Given the description of an element on the screen output the (x, y) to click on. 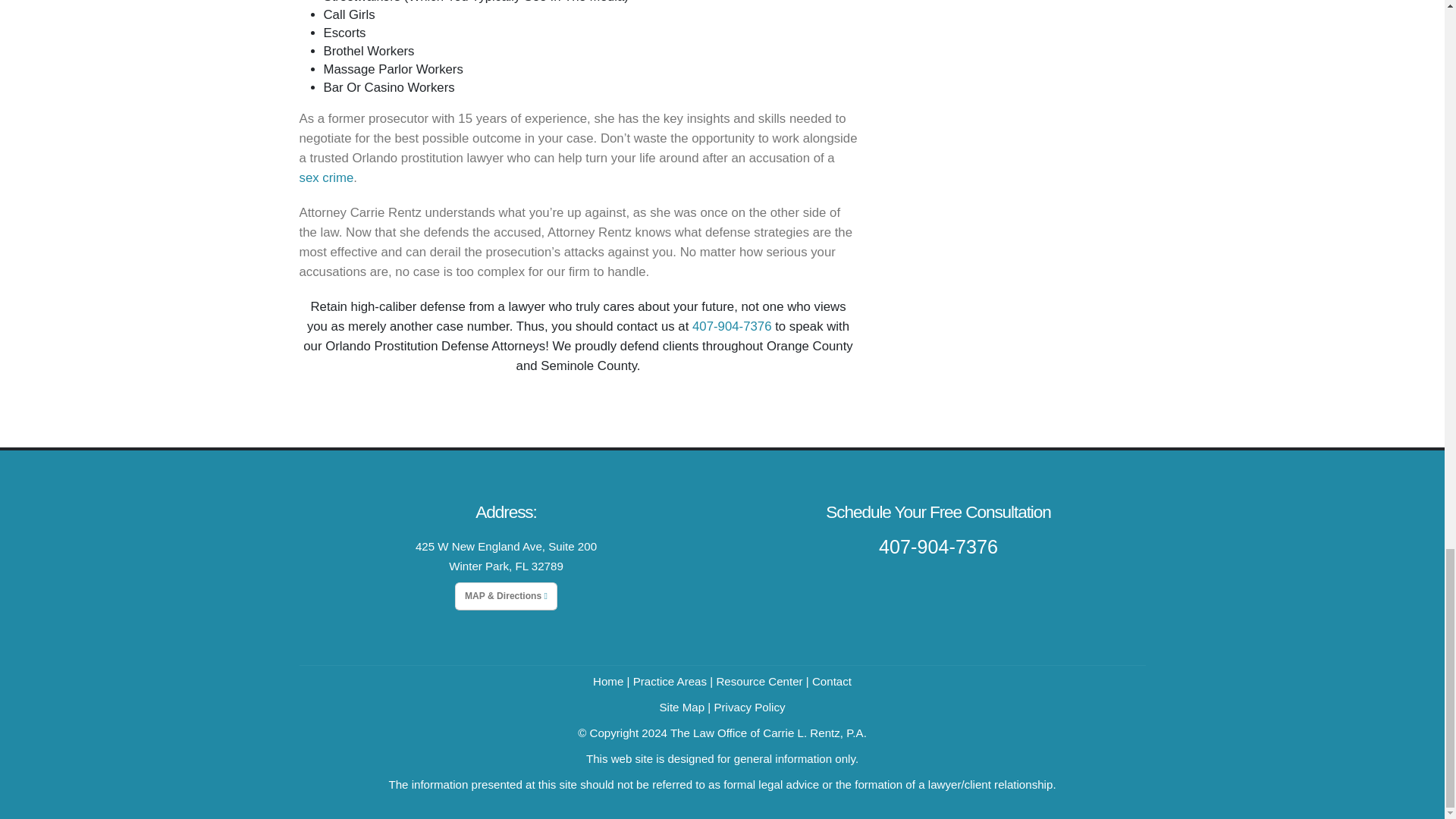
407-904-7376 (732, 326)
sex crime (325, 177)
